Given the description of an element on the screen output the (x, y) to click on. 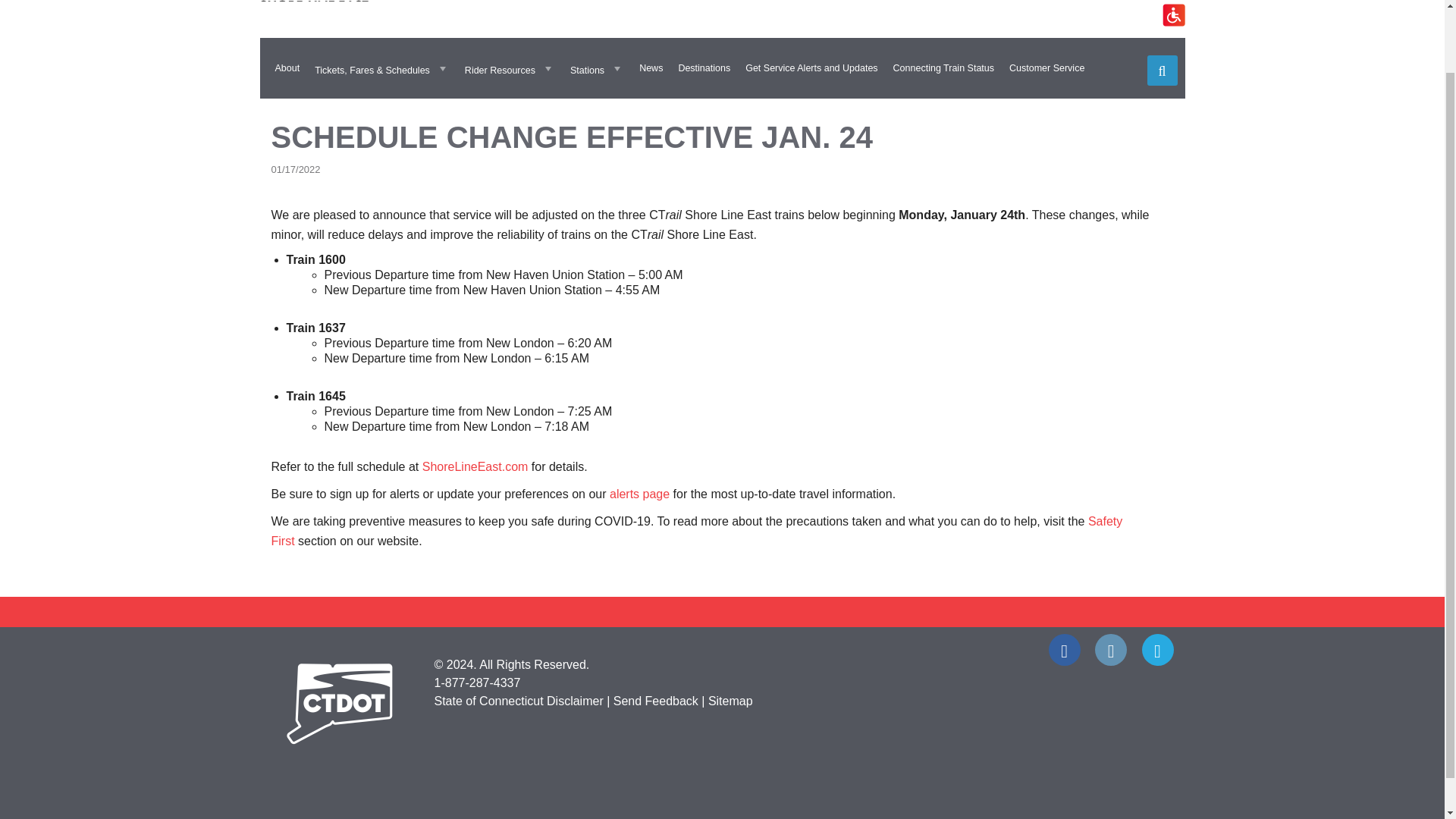
Twitter (1157, 649)
Connecting Train Status (943, 68)
News (650, 68)
Expand search (1161, 70)
Facebook (1064, 649)
Customer Service (1046, 68)
Get Service Alerts and Updates (811, 68)
Social Media Links (722, 650)
About (286, 68)
Stations (596, 68)
Rider Resources (509, 68)
Instagram (1110, 649)
Destinations (703, 68)
